Given the description of an element on the screen output the (x, y) to click on. 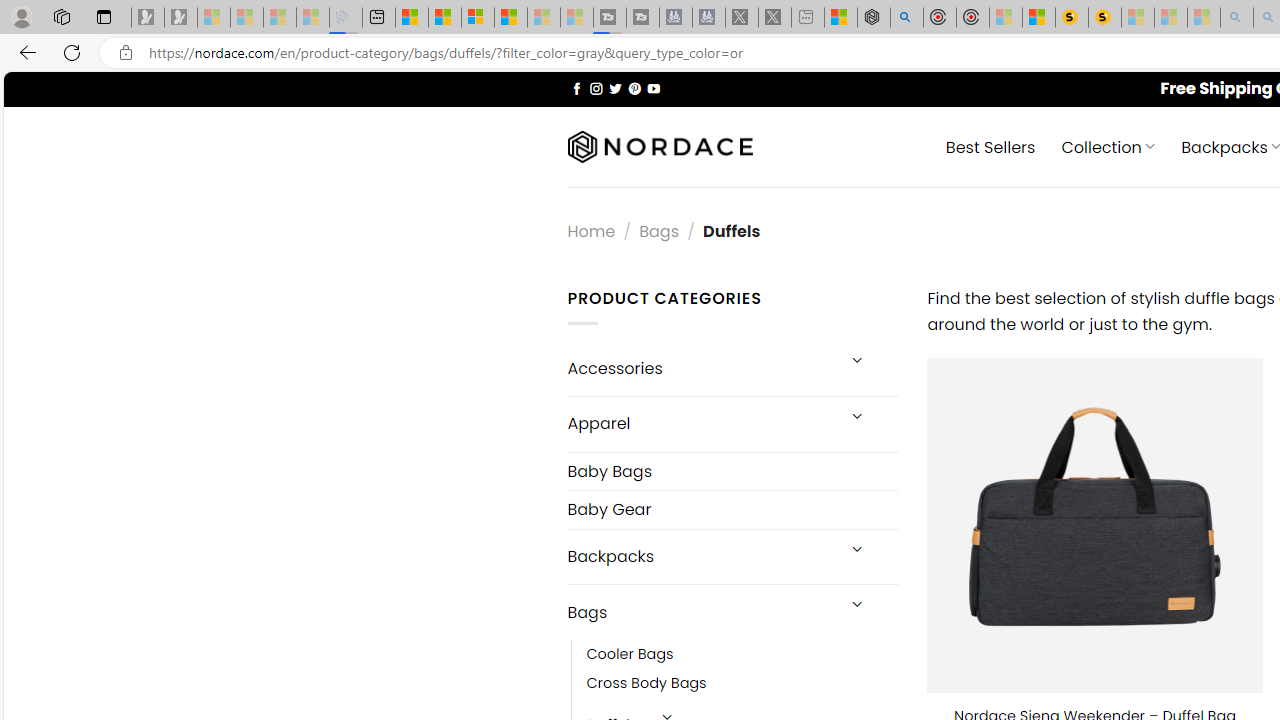
amazon - Search - Sleeping (1237, 17)
Follow on YouTube (653, 88)
Follow on Facebook (576, 88)
X - Sleeping (775, 17)
Backpacks (700, 556)
